Given the description of an element on the screen output the (x, y) to click on. 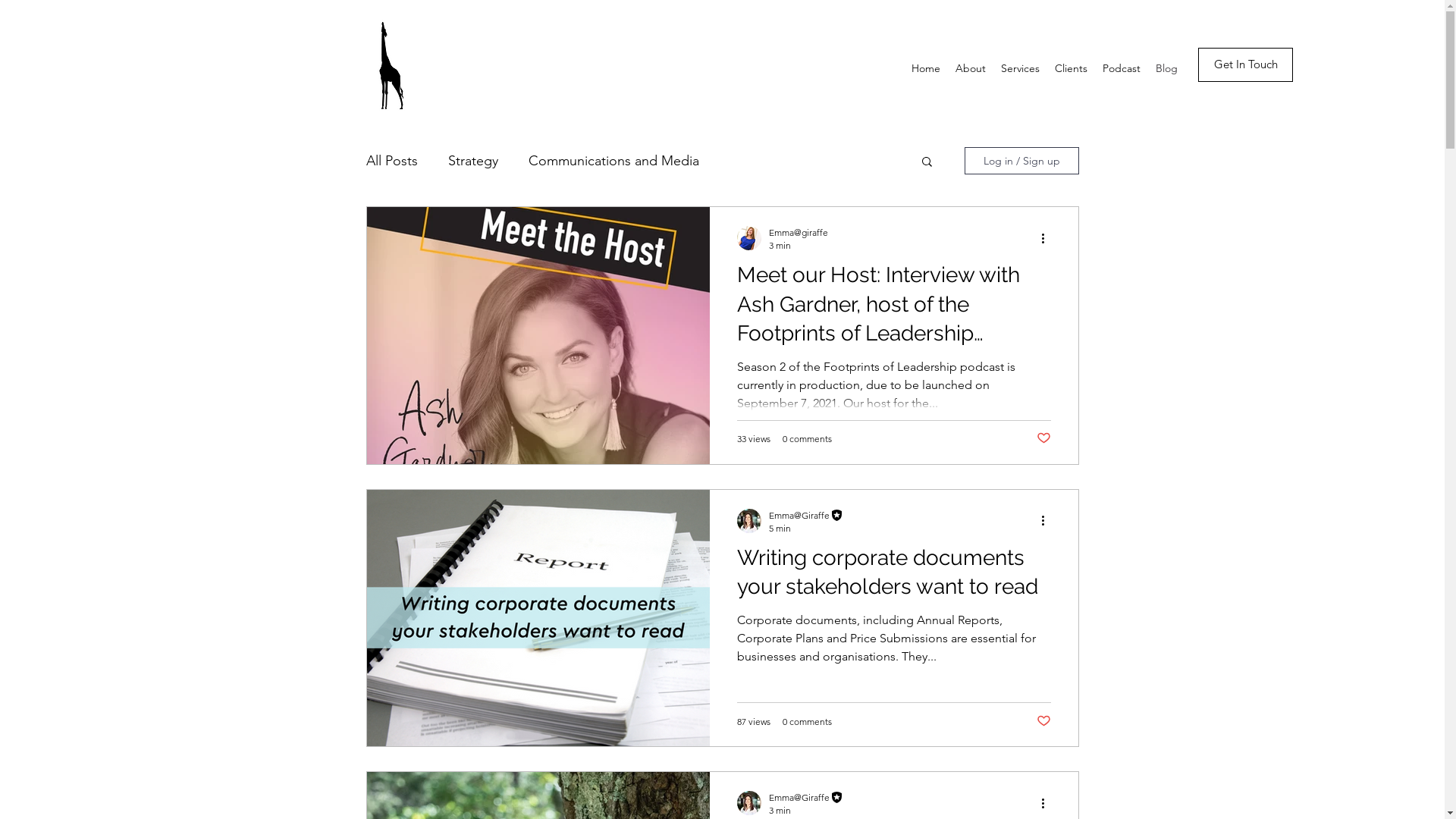
Home Element type: text (925, 67)
Get In Touch Element type: text (1245, 64)
Strategy Element type: text (472, 160)
Services Element type: text (1020, 67)
Writing corporate documents your stakeholders want to read Element type: text (894, 576)
Post not marked as liked Element type: text (1042, 438)
Log in / Sign up Element type: text (1021, 160)
Clients Element type: text (1071, 67)
Blog Element type: text (1166, 67)
All Posts Element type: text (391, 160)
Podcast Element type: text (1121, 67)
0 comments Element type: text (806, 721)
Communications and Media Element type: text (612, 160)
Post not marked as liked Element type: text (1042, 720)
0 comments Element type: text (806, 438)
